Given the description of an element on the screen output the (x, y) to click on. 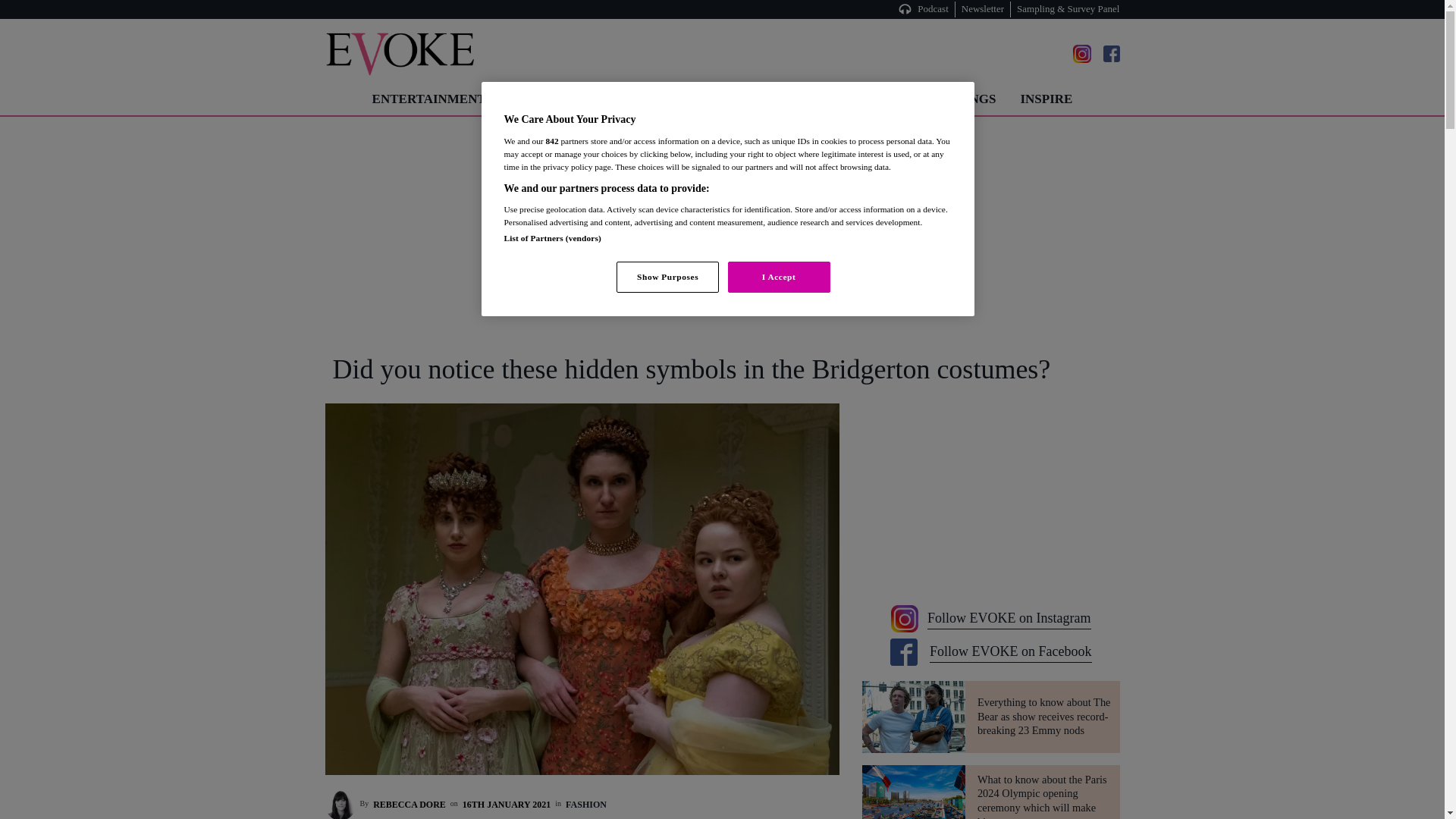
Podcast (935, 9)
WELLNESS (802, 98)
FASHION (538, 98)
ENTERTAINMENT (428, 98)
LIFESTYLE (706, 98)
Newsletter (982, 9)
NEWS (881, 98)
BEAUTY (618, 98)
